Given the description of an element on the screen output the (x, y) to click on. 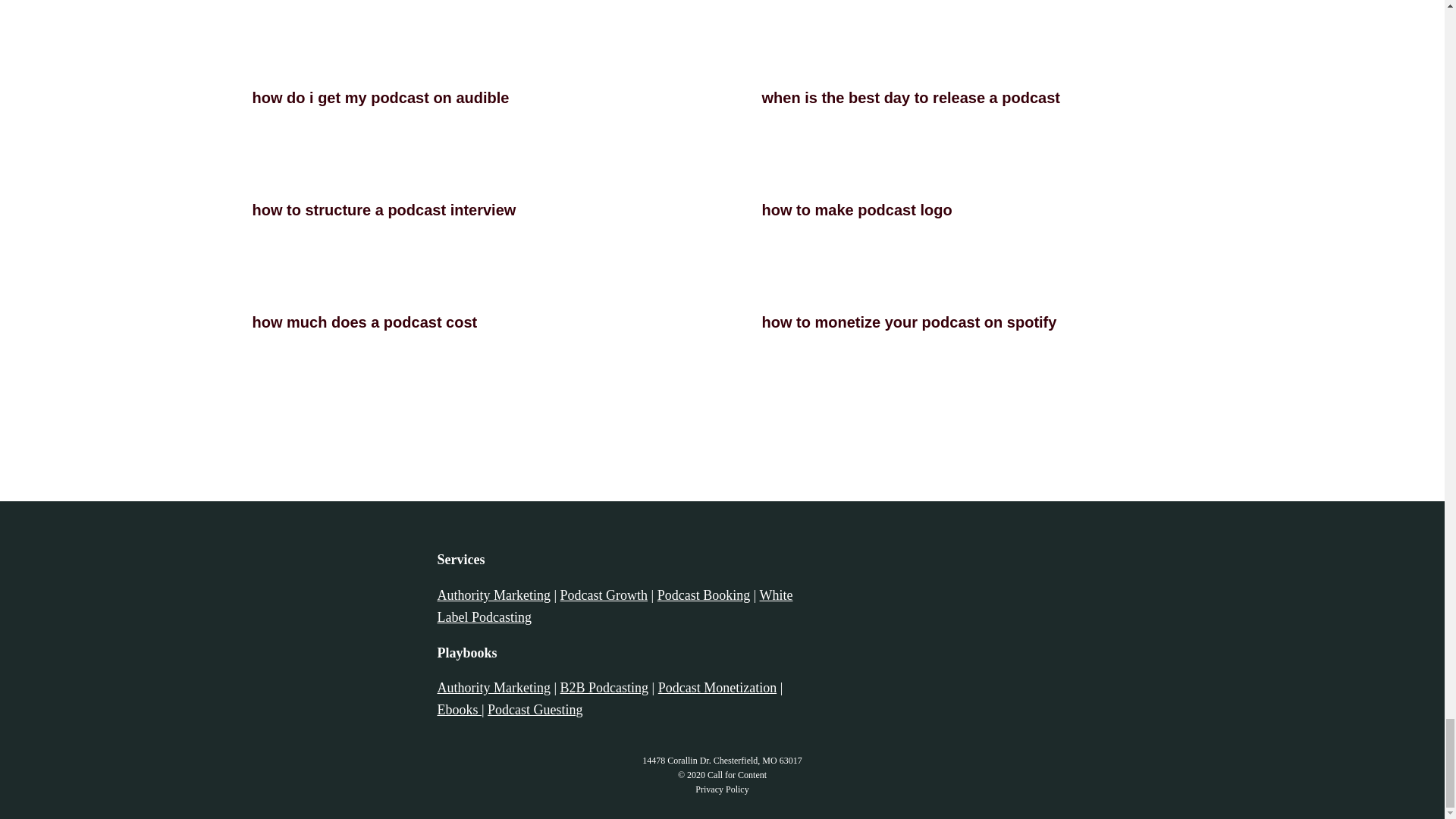
how to monetize your podcast on spotify (909, 321)
Podcast Booking (704, 595)
Authority Marketing (493, 687)
Authority Marketing (493, 595)
how much does a podcast cost (364, 321)
Podcast Growth (603, 595)
B2B Podcasting (604, 687)
White Label Podcasting (614, 606)
how to make podcast logo (856, 209)
how to structure a podcast interview (383, 209)
when is the best day to release a podcast (910, 97)
how do i get my podcast on audible (379, 97)
